Given the description of an element on the screen output the (x, y) to click on. 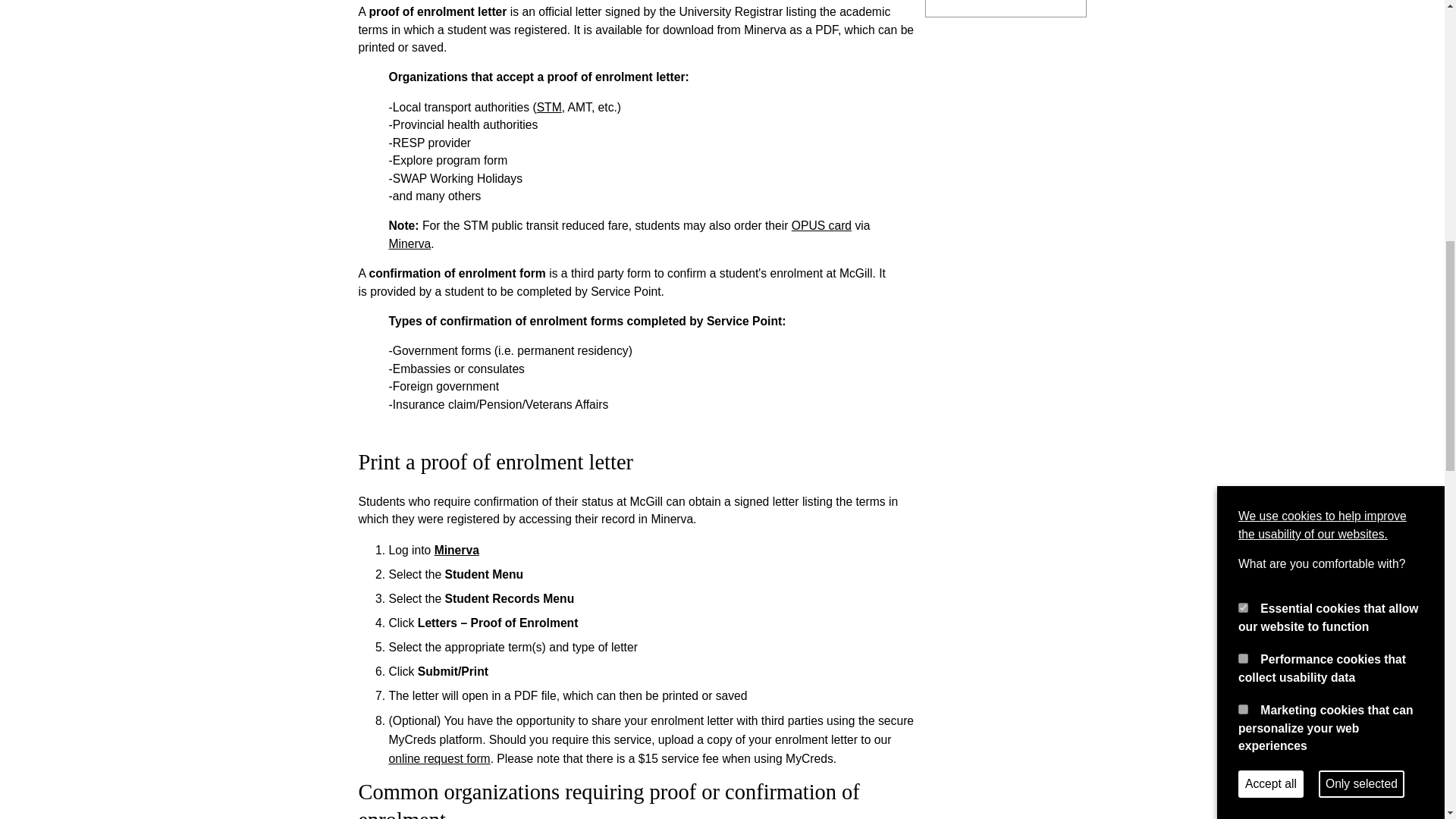
OPUS card (821, 225)
Minerva (409, 243)
online request form (438, 758)
STM (549, 106)
Minerva (456, 549)
